Given the description of an element on the screen output the (x, y) to click on. 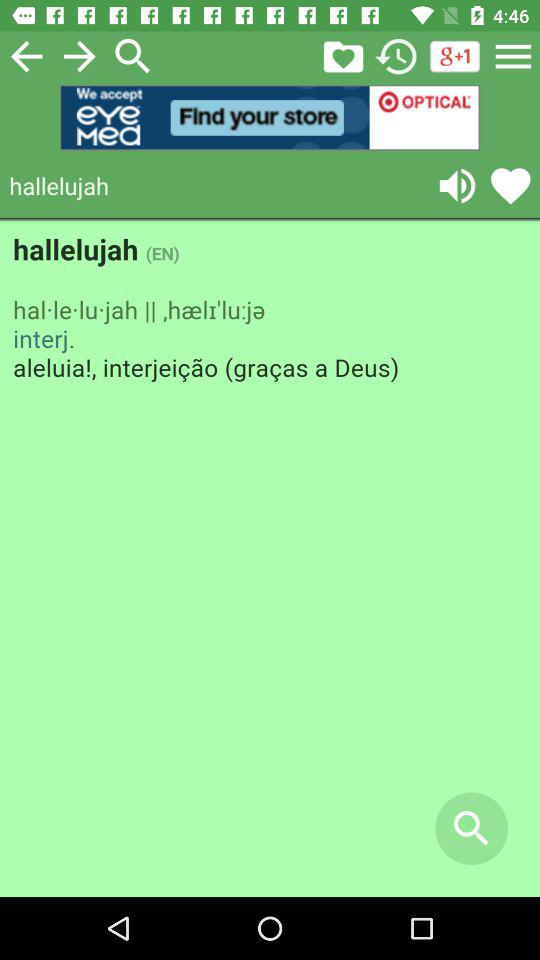
add to favorites folder (343, 56)
